Given the description of an element on the screen output the (x, y) to click on. 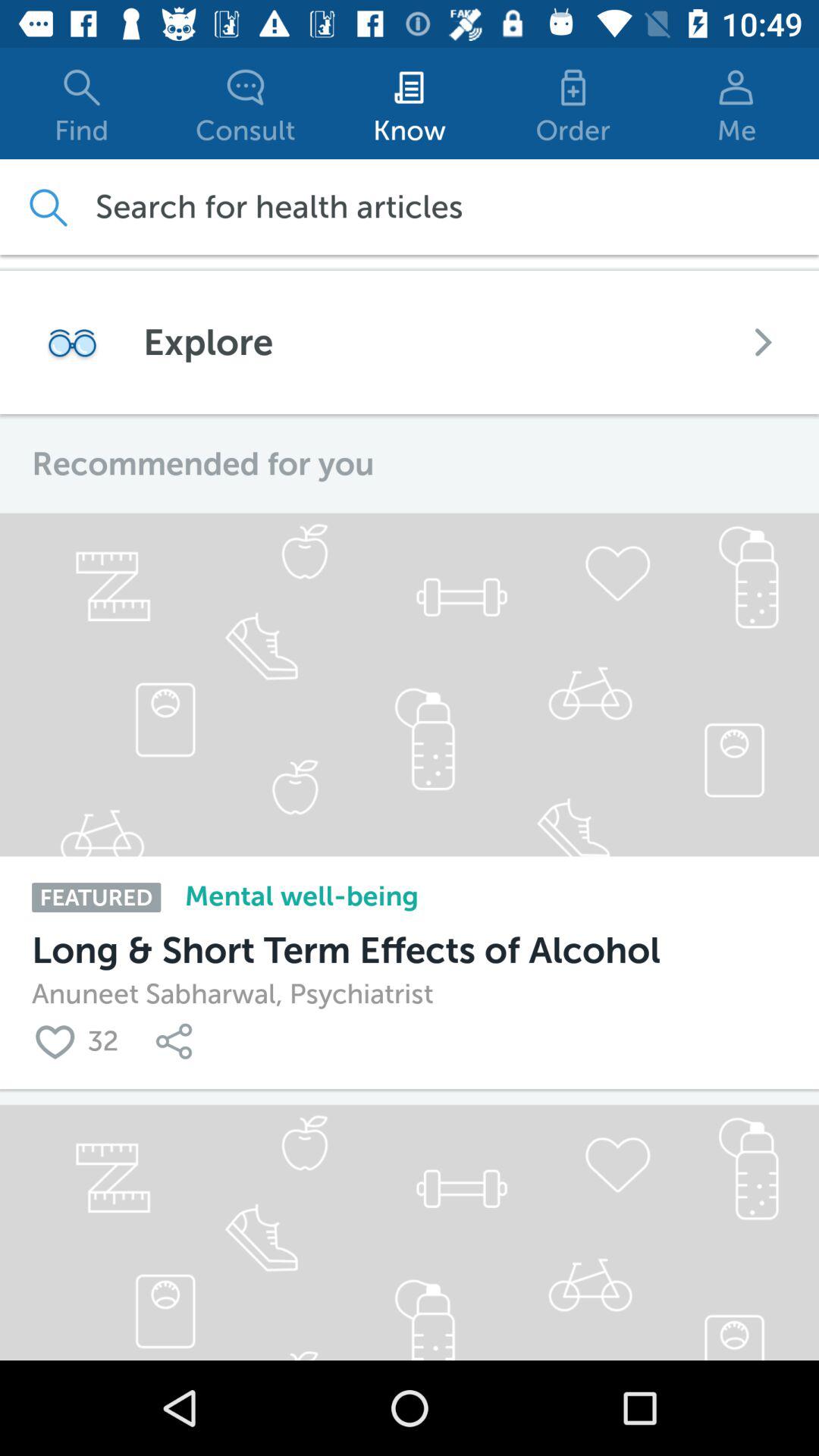
share the article (177, 1041)
